Given the description of an element on the screen output the (x, y) to click on. 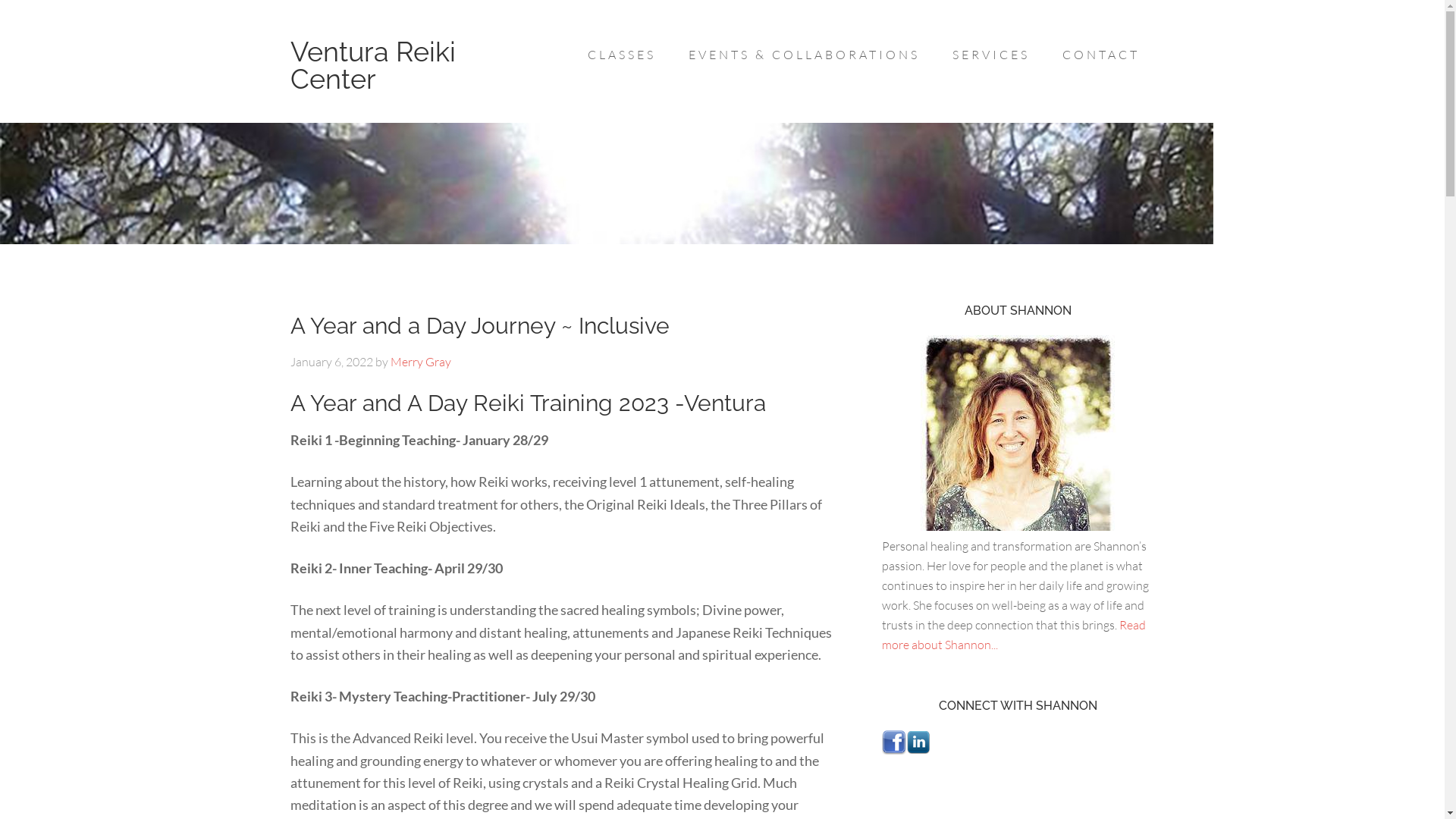
A Year and a Day Journey ~ Inclusive Element type: text (478, 325)
Read more about Shannon... Element type: text (1013, 634)
SERVICES Element type: text (990, 54)
EVENTS & COLLABORATIONS Element type: text (804, 54)
Merry Gray Element type: text (419, 361)
CLASSES Element type: text (620, 54)
CONTACT Element type: text (1100, 54)
Ventura Reiki Center Element type: text (372, 64)
